Given the description of an element on the screen output the (x, y) to click on. 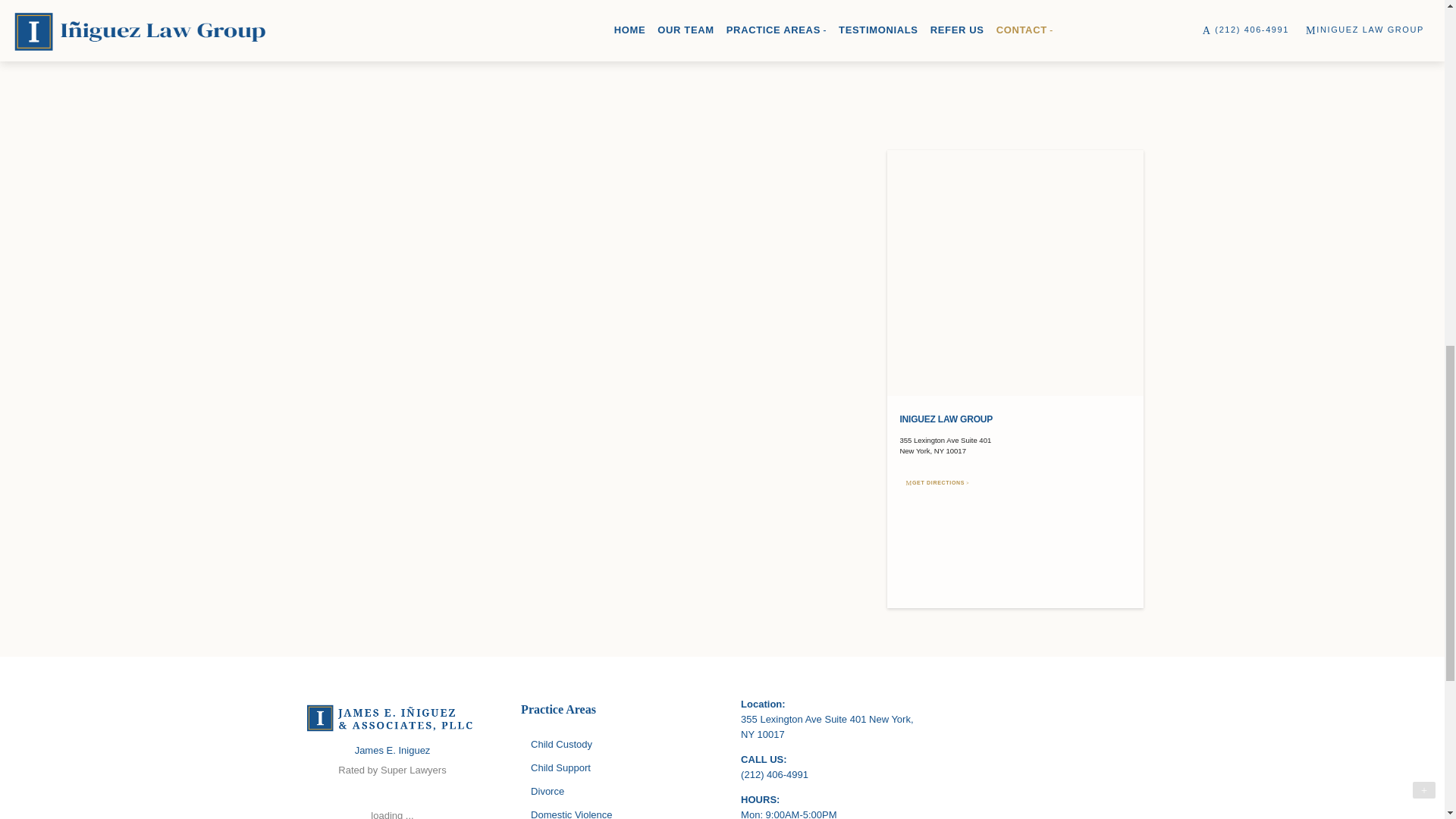
Child Support (612, 768)
James E. Iniguez (392, 749)
Divorce (612, 791)
GET DIRECTIONS (938, 482)
Domestic Violence (612, 812)
Child Custody (612, 744)
